Given the description of an element on the screen output the (x, y) to click on. 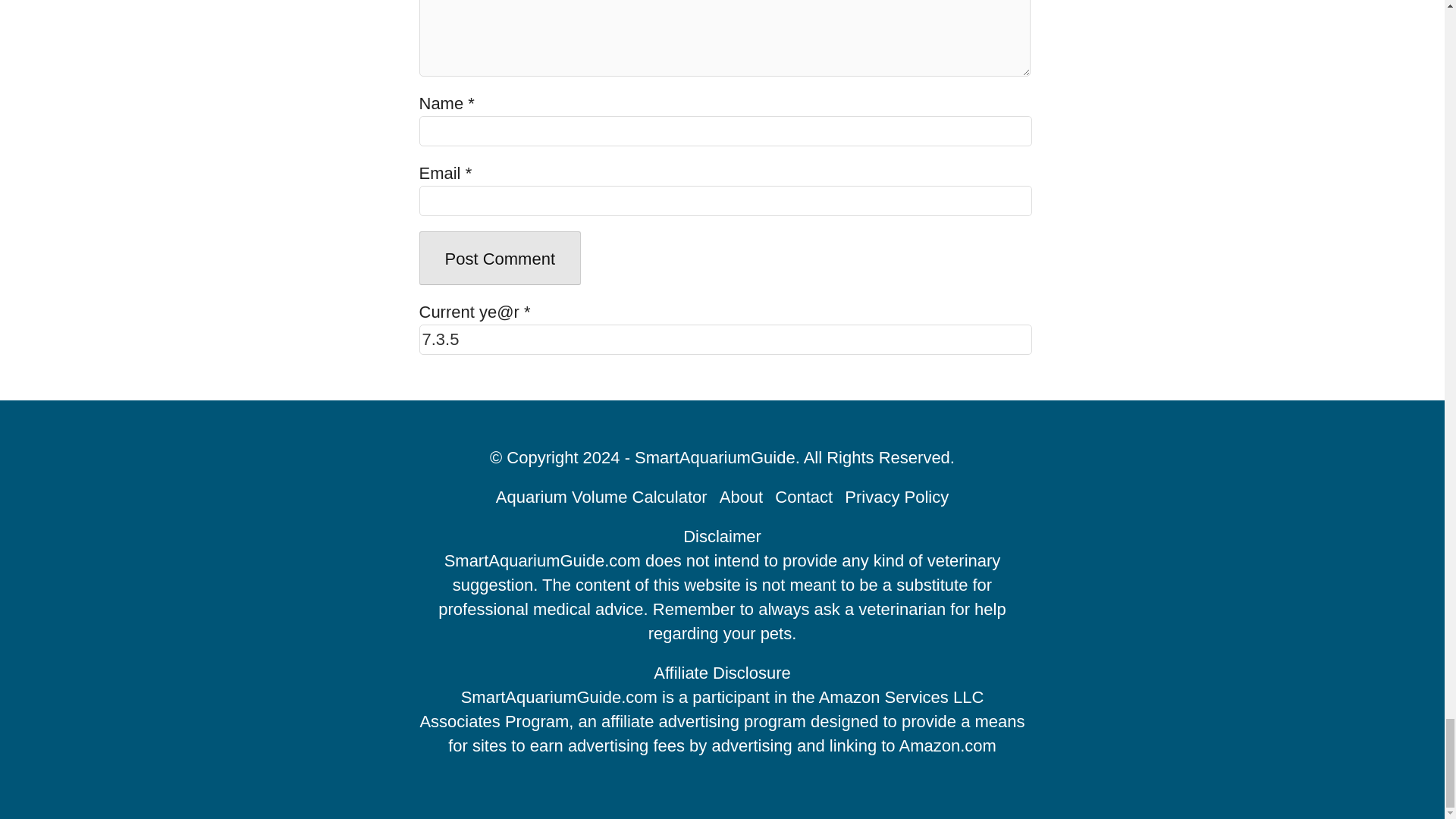
Privacy Policy (896, 496)
Aquarium Volume Calculator (601, 496)
About (740, 496)
7.3.5 (724, 339)
Post Comment (499, 257)
Contact (803, 496)
Post Comment (499, 257)
